Given the description of an element on the screen output the (x, y) to click on. 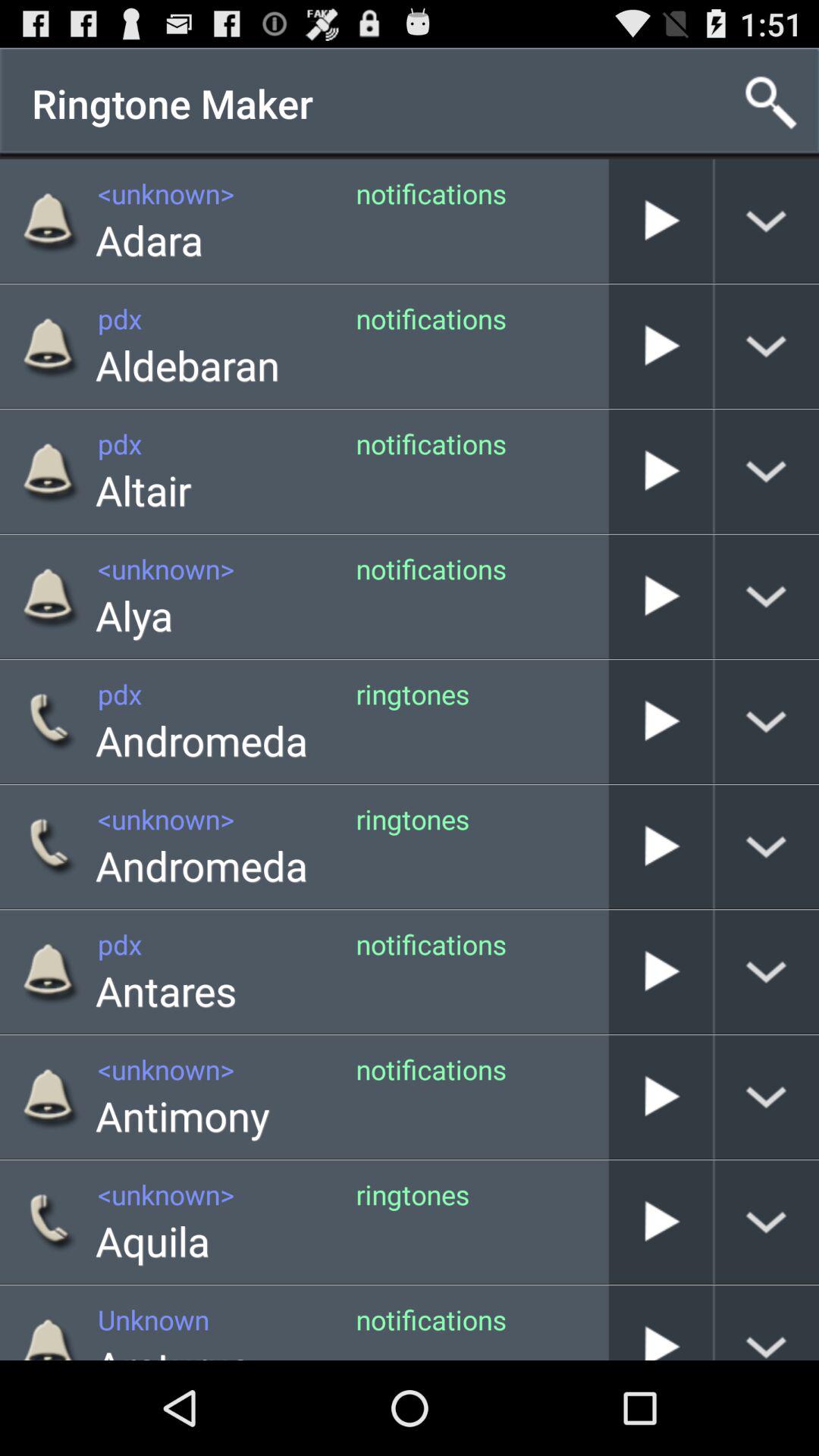
turn off item next to the notifications app (608, 346)
